Given the description of an element on the screen output the (x, y) to click on. 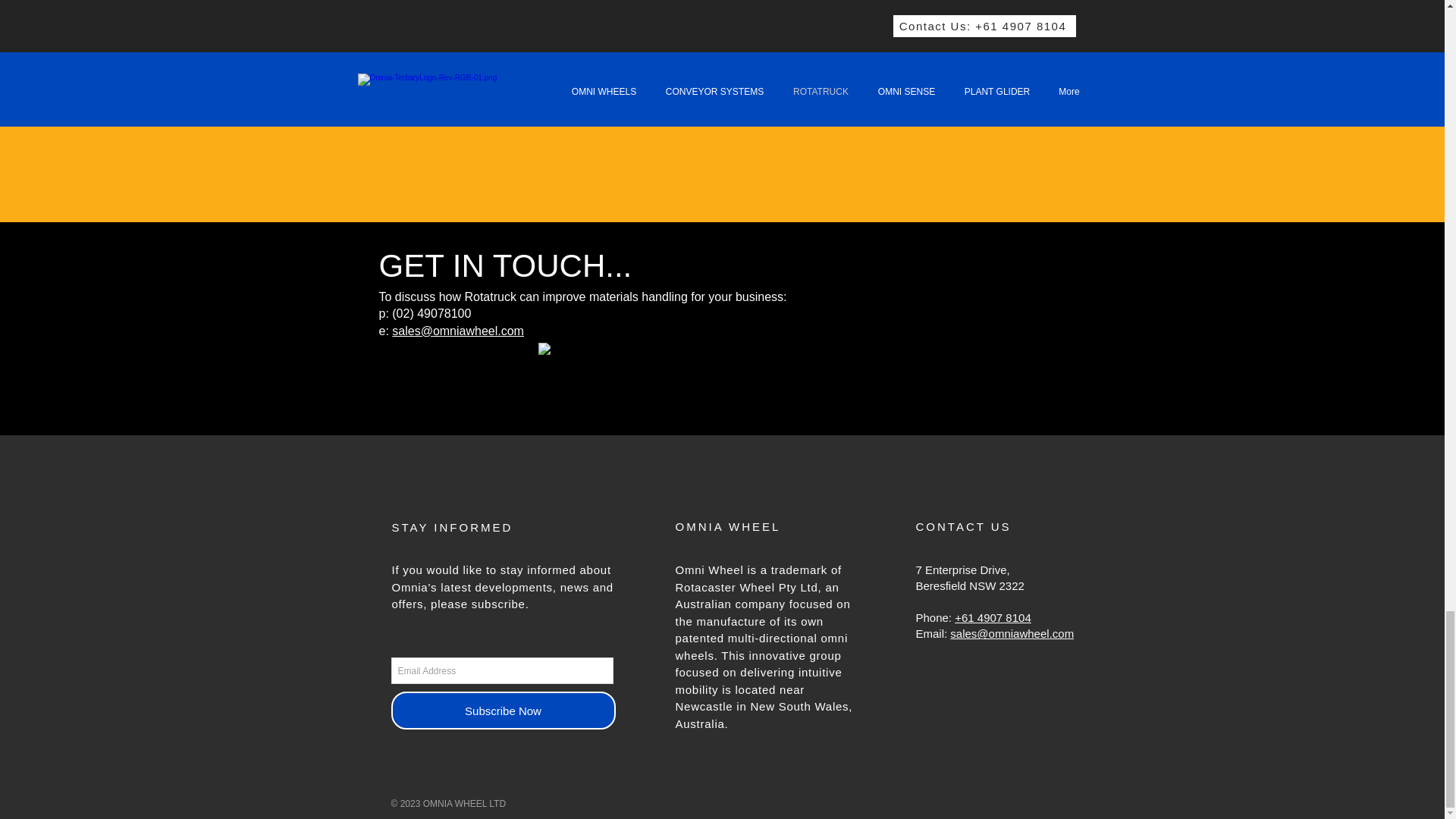
Email: (932, 633)
Subscribe Now (503, 710)
